Given the description of an element on the screen output the (x, y) to click on. 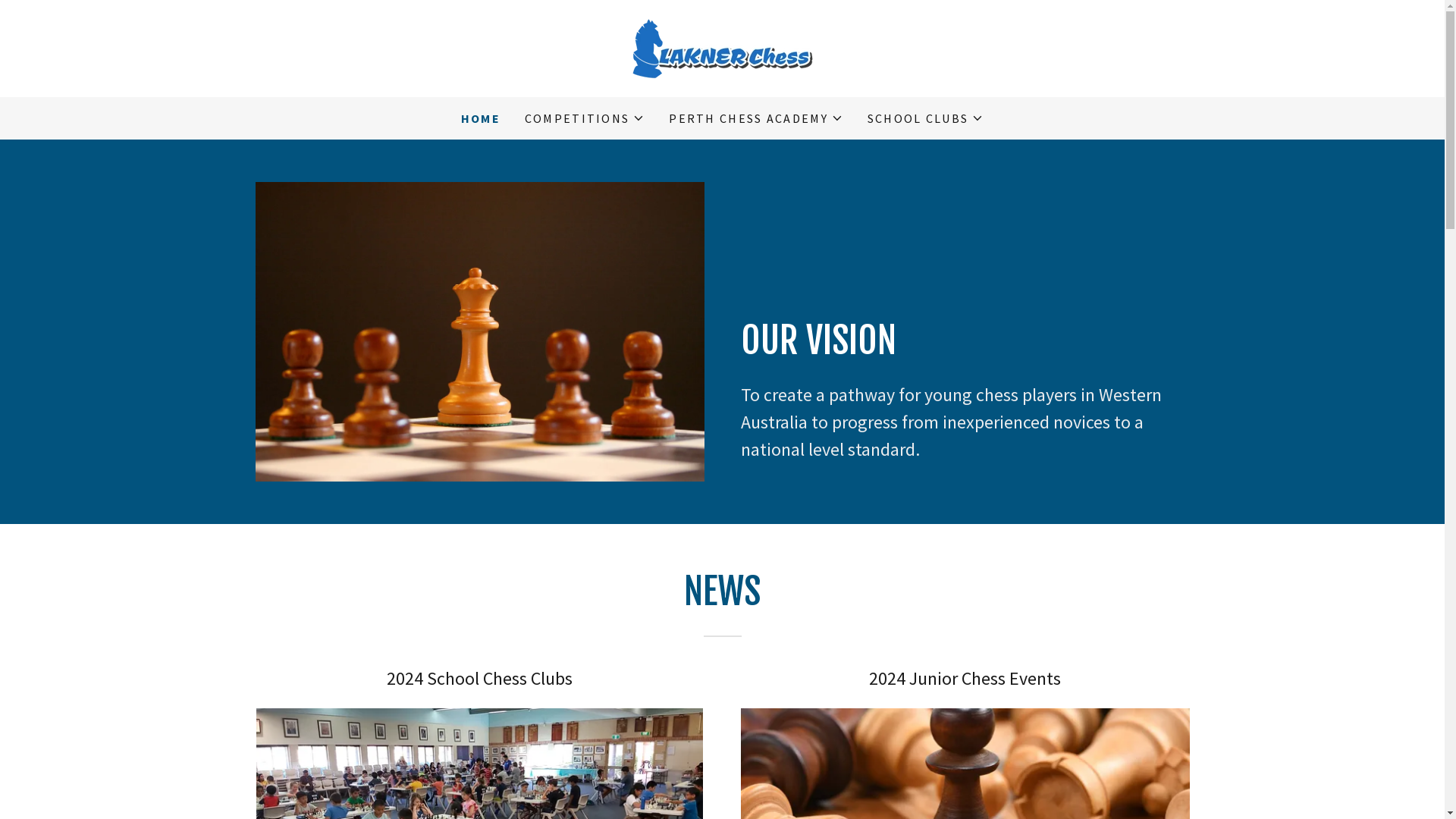
PERTH CHESS ACADEMY Element type: text (755, 118)
HOME Element type: text (480, 118)
SCHOOL CLUBS Element type: text (925, 118)
Lakner Chess Element type: hover (721, 46)
COMPETITIONS Element type: text (584, 118)
